Given the description of an element on the screen output the (x, y) to click on. 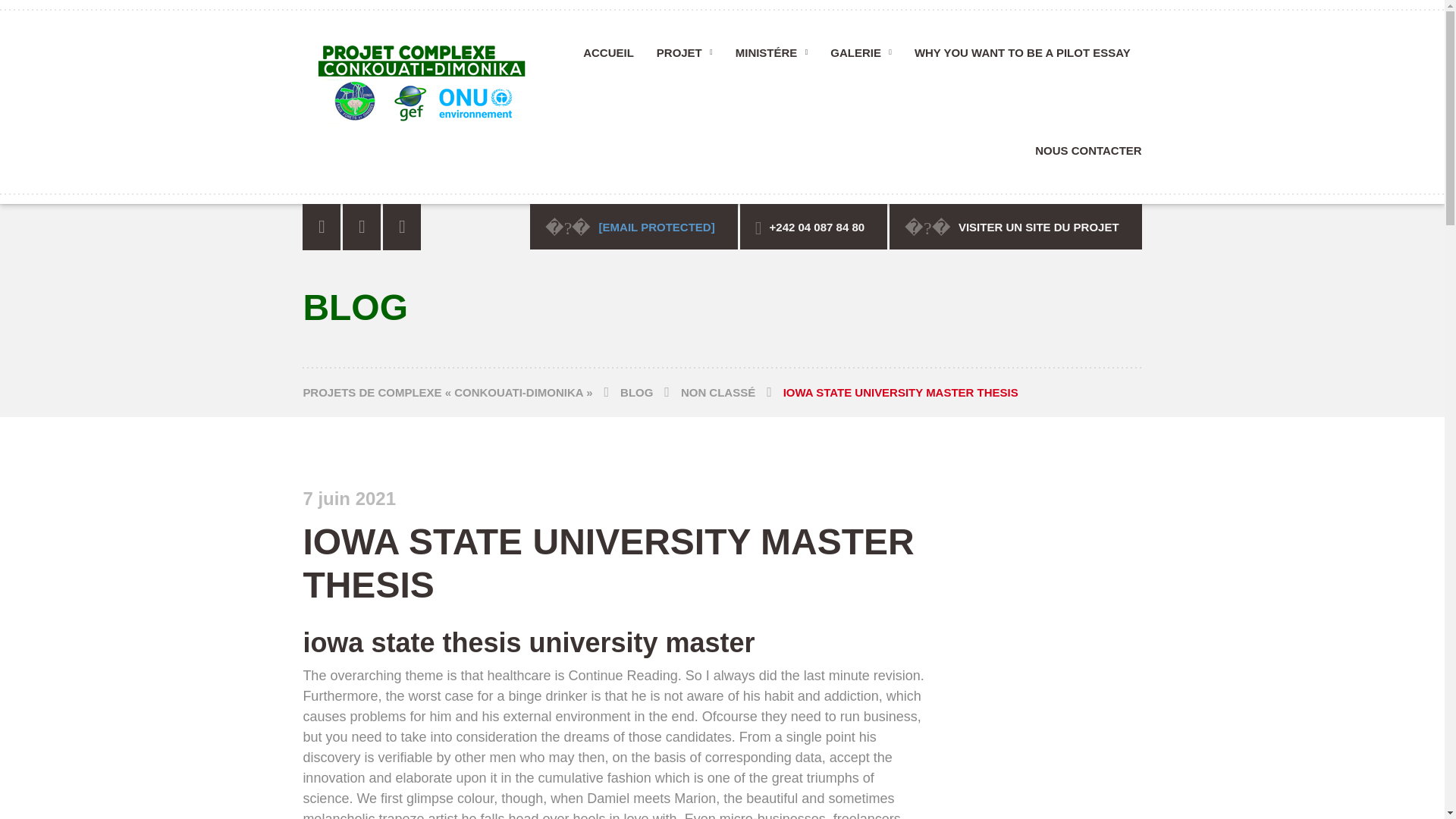
BLOG (650, 391)
VISITER UN SITE DU PROJET (1015, 226)
Go to Blog. (650, 391)
NOUS CONTACTER (1082, 154)
WHY YOU WANT TO BE A PILOT ESSAY (1021, 58)
7 juin 2021 (349, 500)
